Given the description of an element on the screen output the (x, y) to click on. 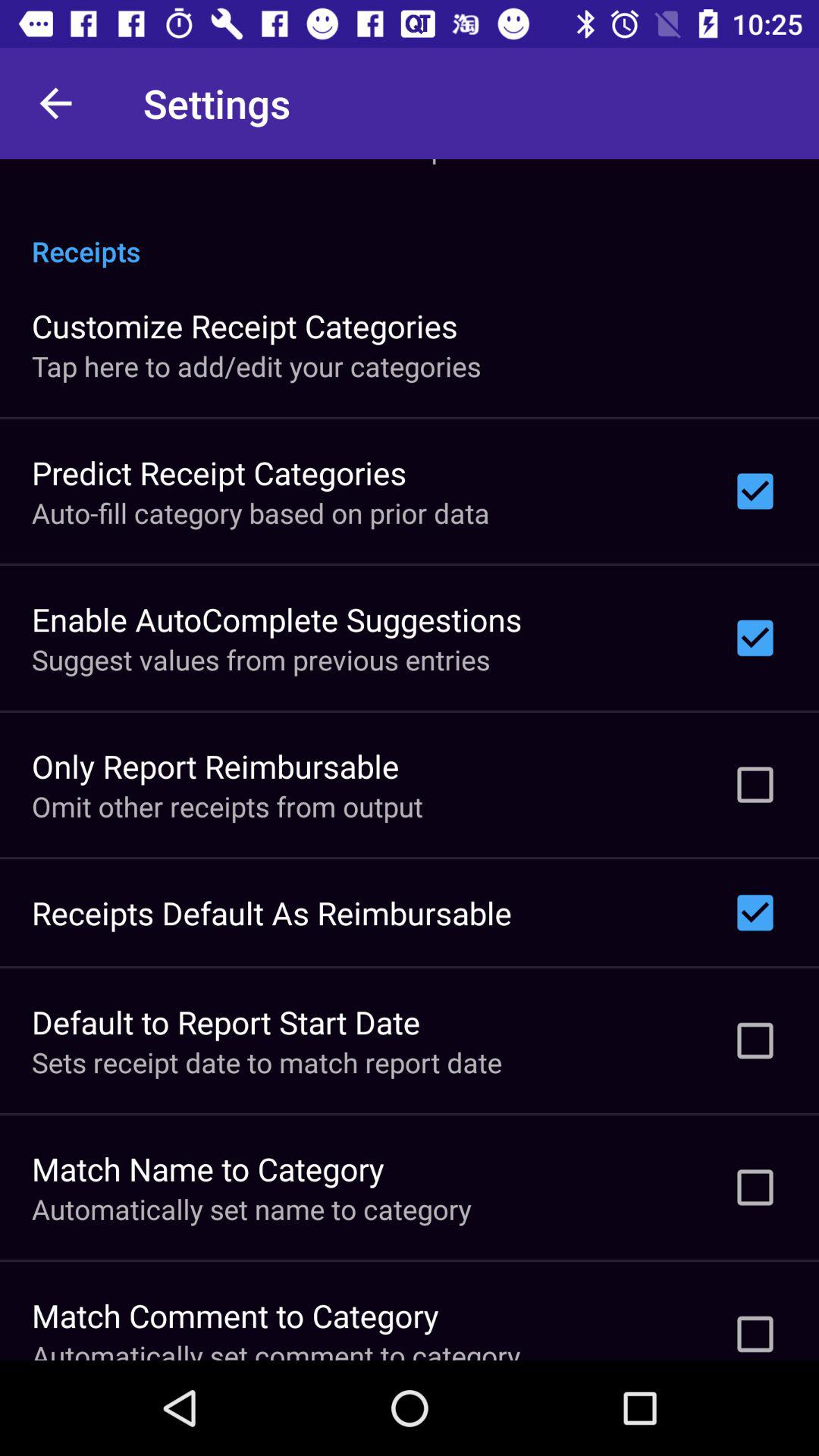
scroll to only report reimbursable item (215, 765)
